Given the description of an element on the screen output the (x, y) to click on. 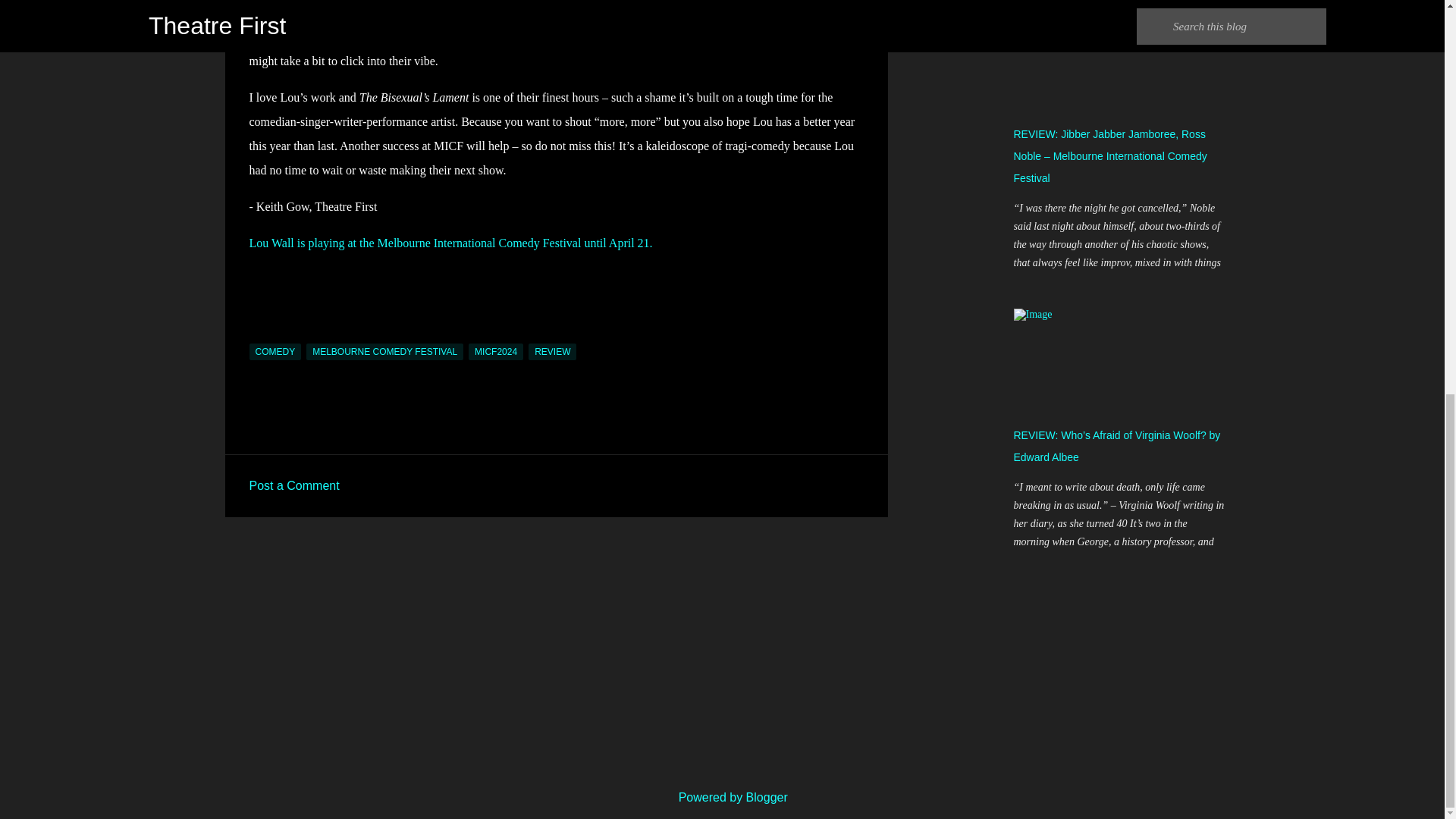
REVIEW (552, 351)
COMEDY (274, 351)
Post a Comment (293, 485)
MICF2024 (495, 351)
Powered by Blogger (721, 797)
MELBOURNE COMEDY FESTIVAL (384, 351)
